Given the description of an element on the screen output the (x, y) to click on. 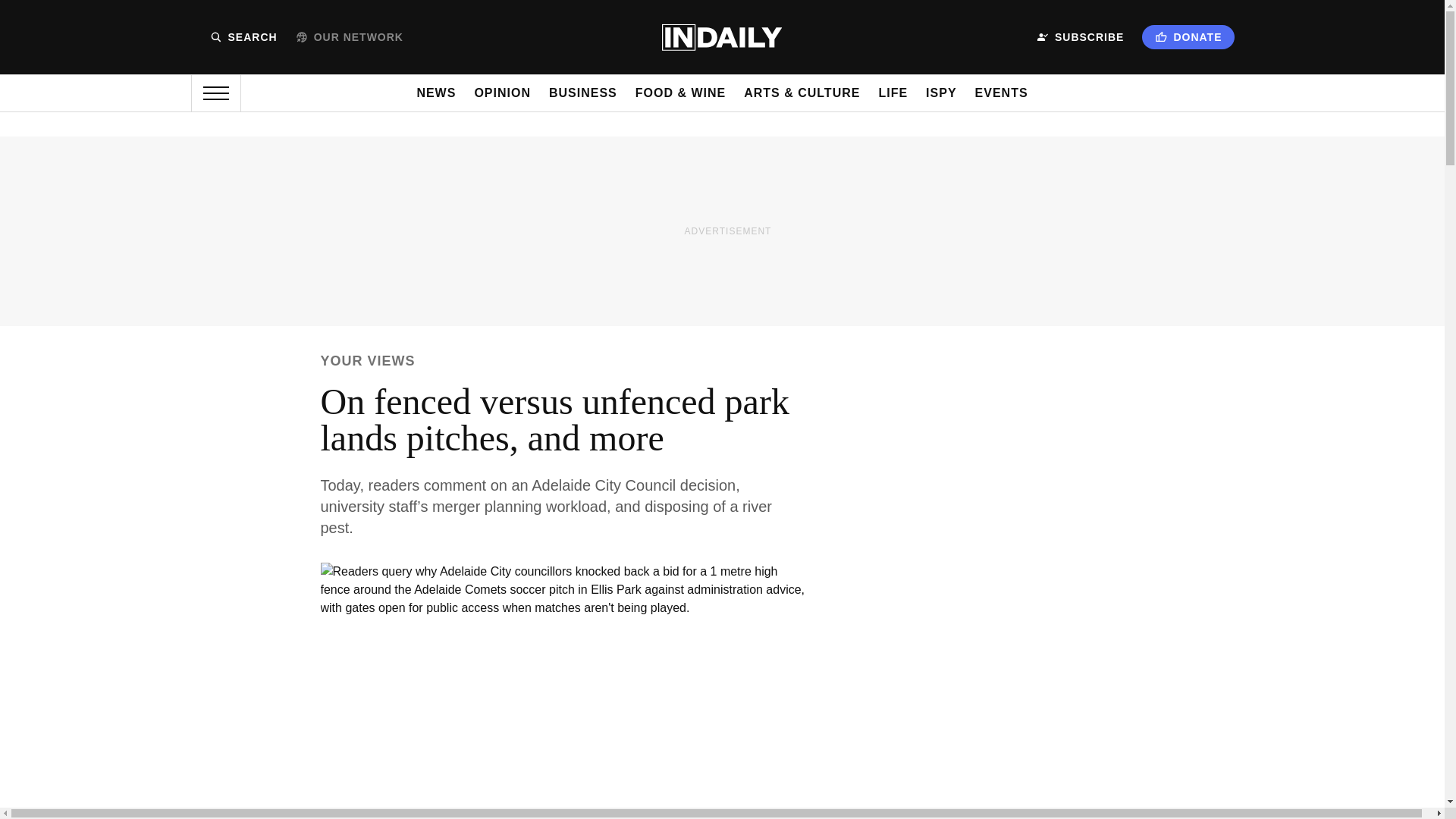
SEARCH (242, 37)
LIFE (892, 92)
DONATE (1187, 37)
BUSINESS (582, 92)
OPINION (502, 92)
YOUR VIEWS (367, 360)
EVENTS (1001, 92)
OUR NETWORK (349, 37)
ISPY (941, 92)
NEWS (435, 92)
